Given the description of an element on the screen output the (x, y) to click on. 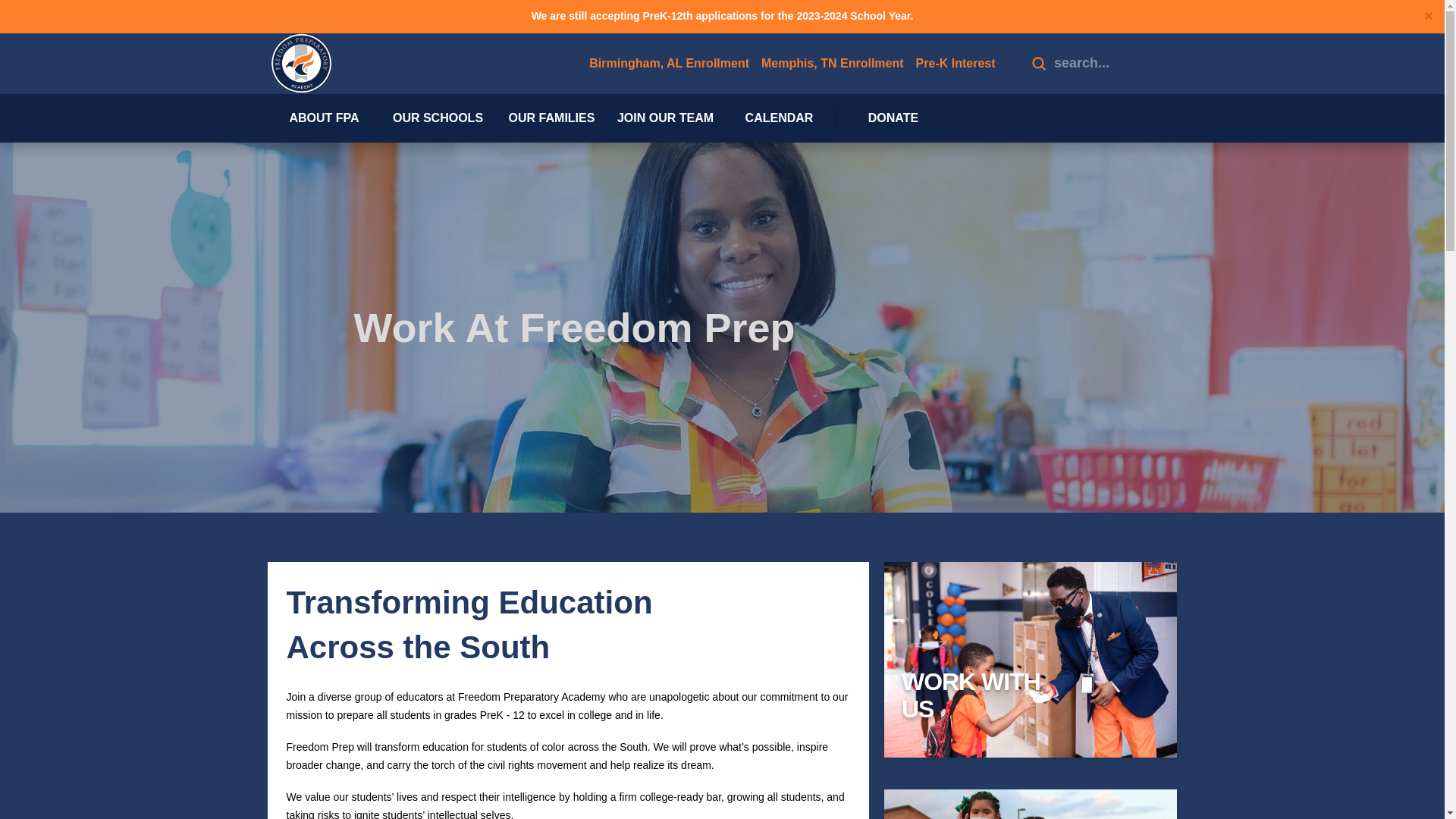
CALENDAR (778, 117)
WORK WITH US (1029, 695)
Pre-K Interest (955, 63)
Birmingham, AL Enrollment (669, 63)
Memphis, TN Enrollment (832, 63)
Submit (1037, 63)
DONATE (892, 117)
